Given the description of an element on the screen output the (x, y) to click on. 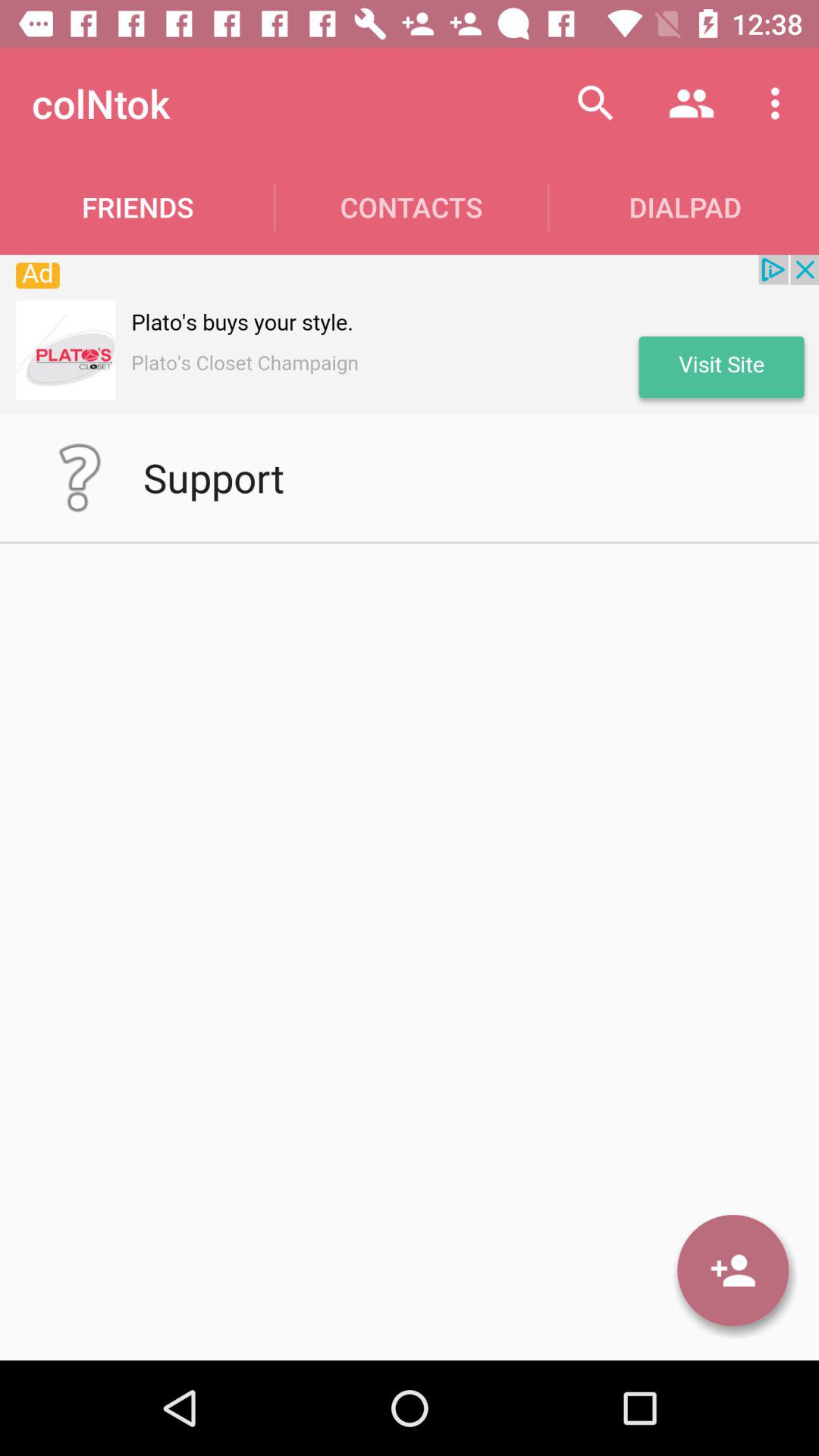
advertisement banner (409, 334)
